Given the description of an element on the screen output the (x, y) to click on. 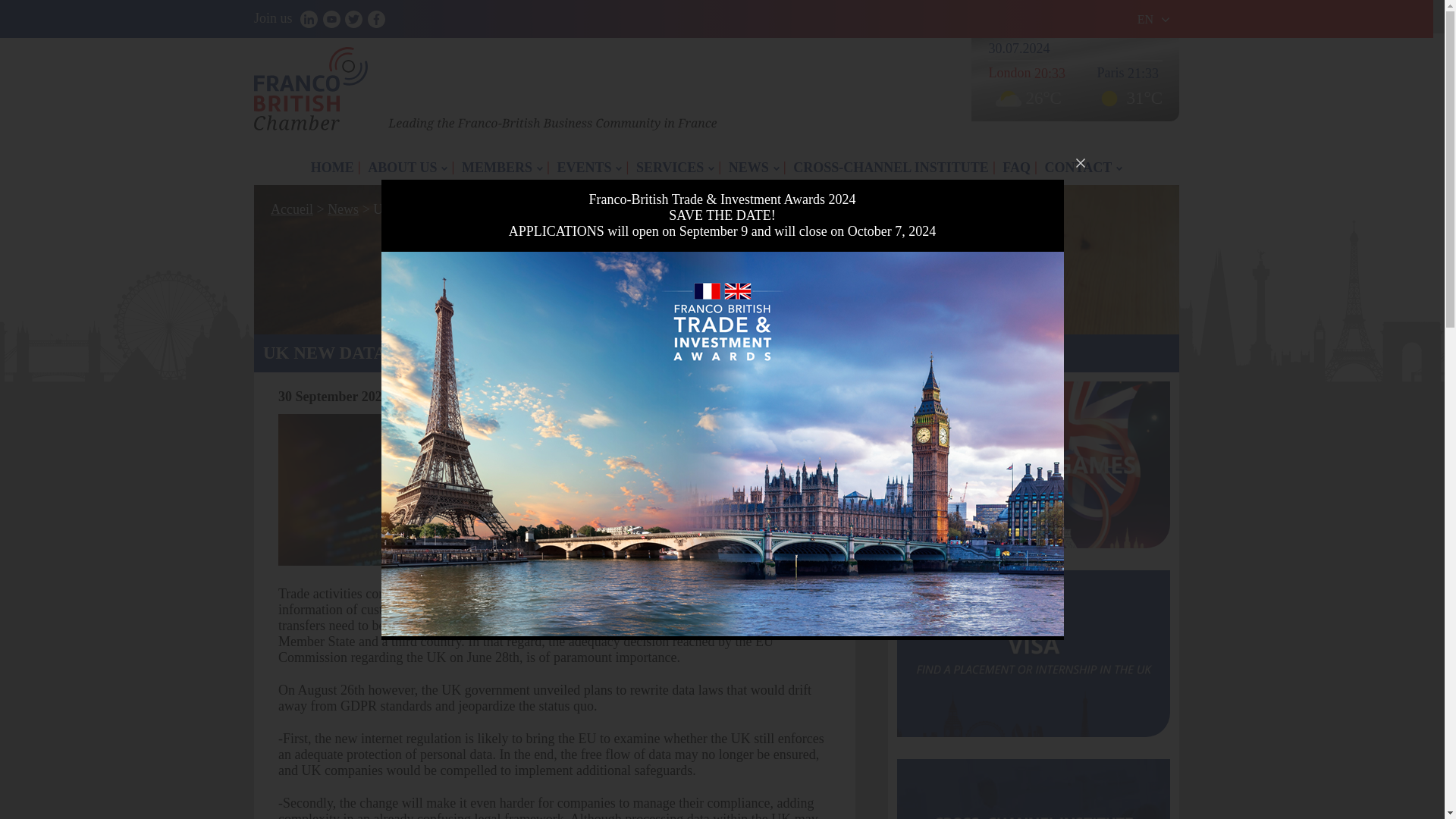
CROSS-CHANNEL INSTITUTE (890, 167)
ABOUT US (407, 167)
Close (1079, 162)
MEMBERS (502, 167)
CONTACT (1083, 167)
HOME (332, 167)
NEWS (754, 167)
FAQ (1015, 167)
EVENTS (589, 167)
SERVICES (674, 167)
